Given the description of an element on the screen output the (x, y) to click on. 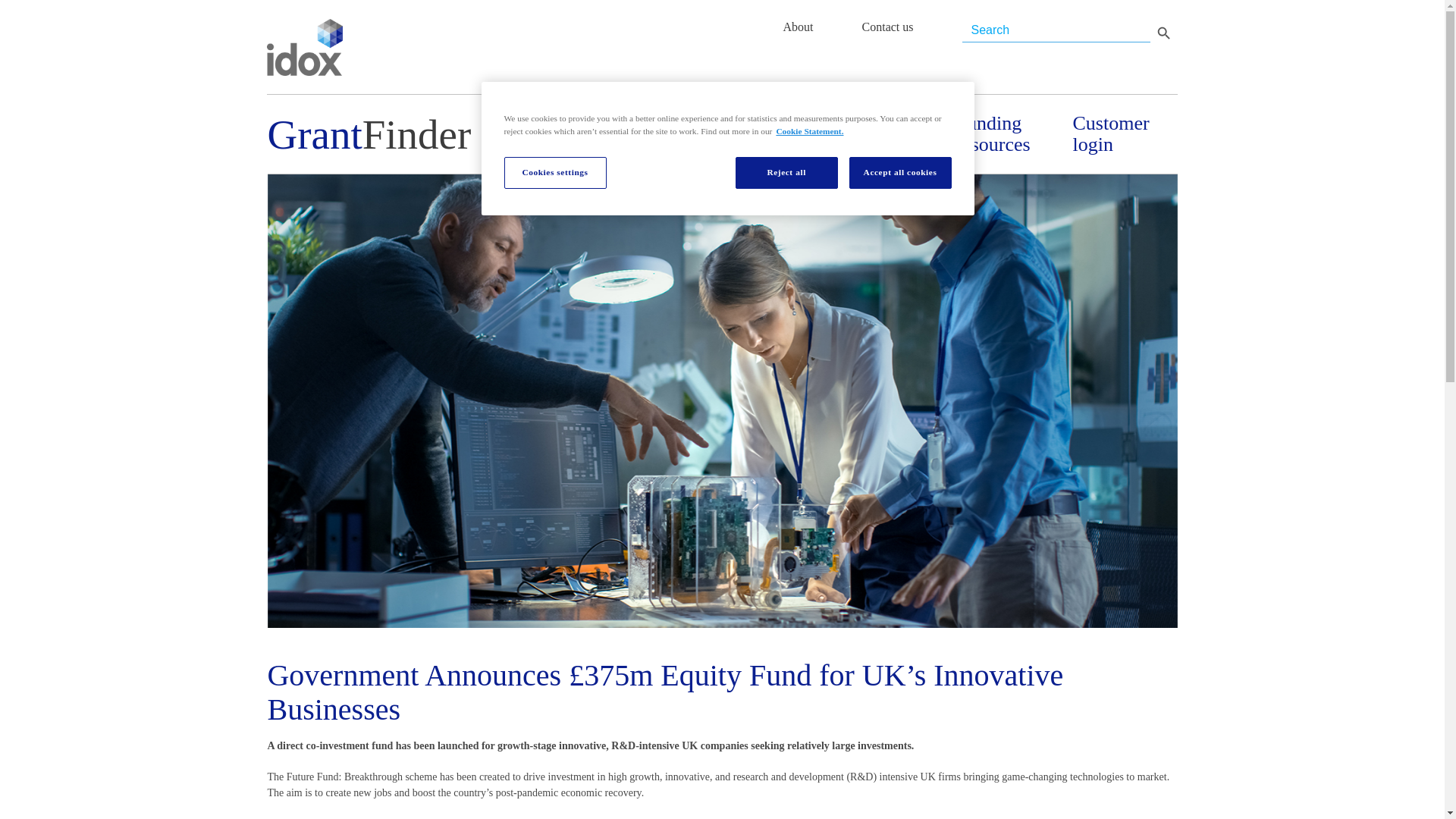
Funding resources (1007, 134)
Contact us (887, 26)
NewLogoRetina (304, 47)
About (798, 26)
Funding services (890, 134)
Customer login (1123, 134)
Search Button (1163, 31)
Funding highlights (774, 134)
